Given the description of an element on the screen output the (x, y) to click on. 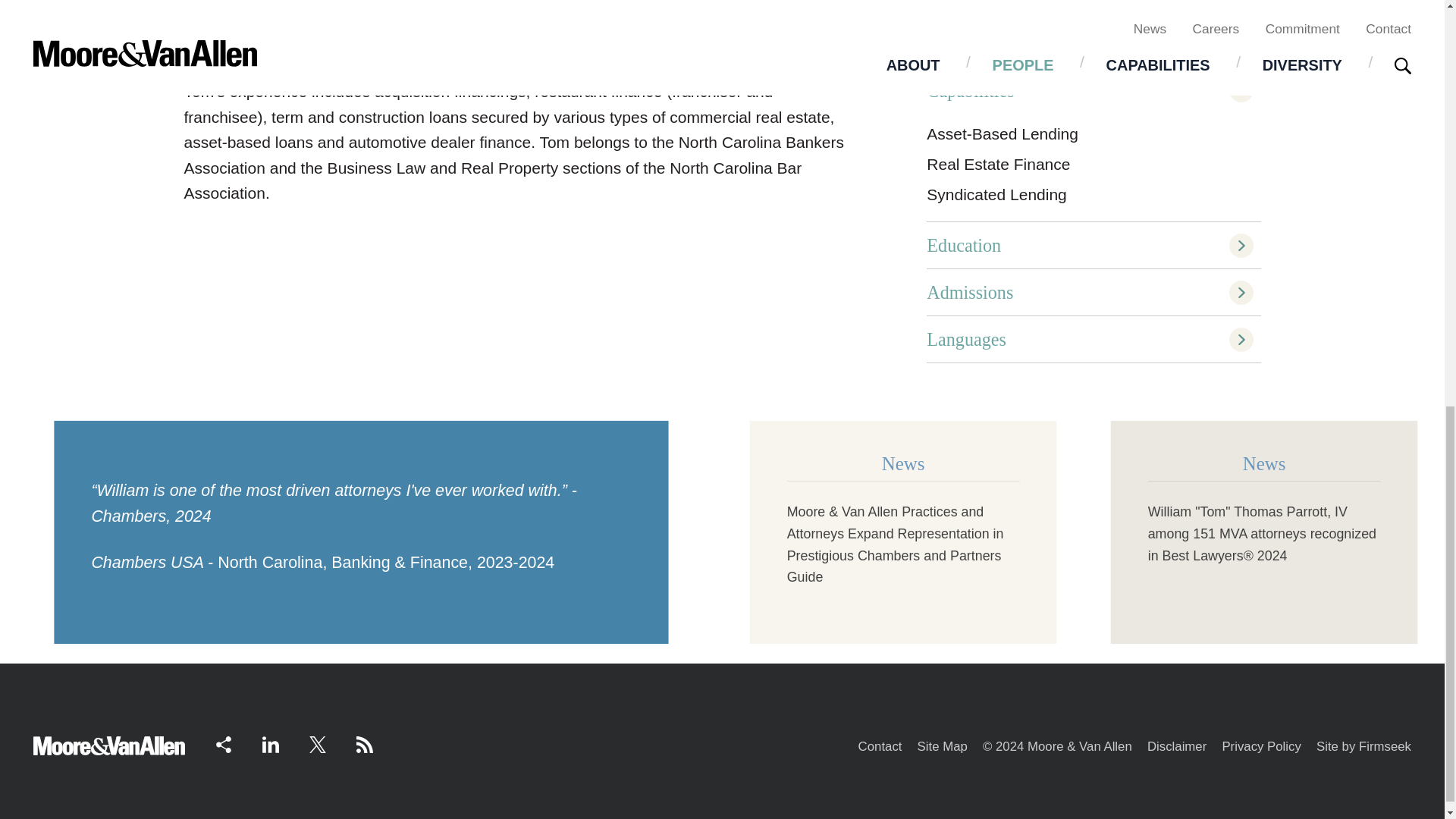
RSS (364, 744)
LinkedIn (270, 744)
Share (223, 744)
